Given the description of an element on the screen output the (x, y) to click on. 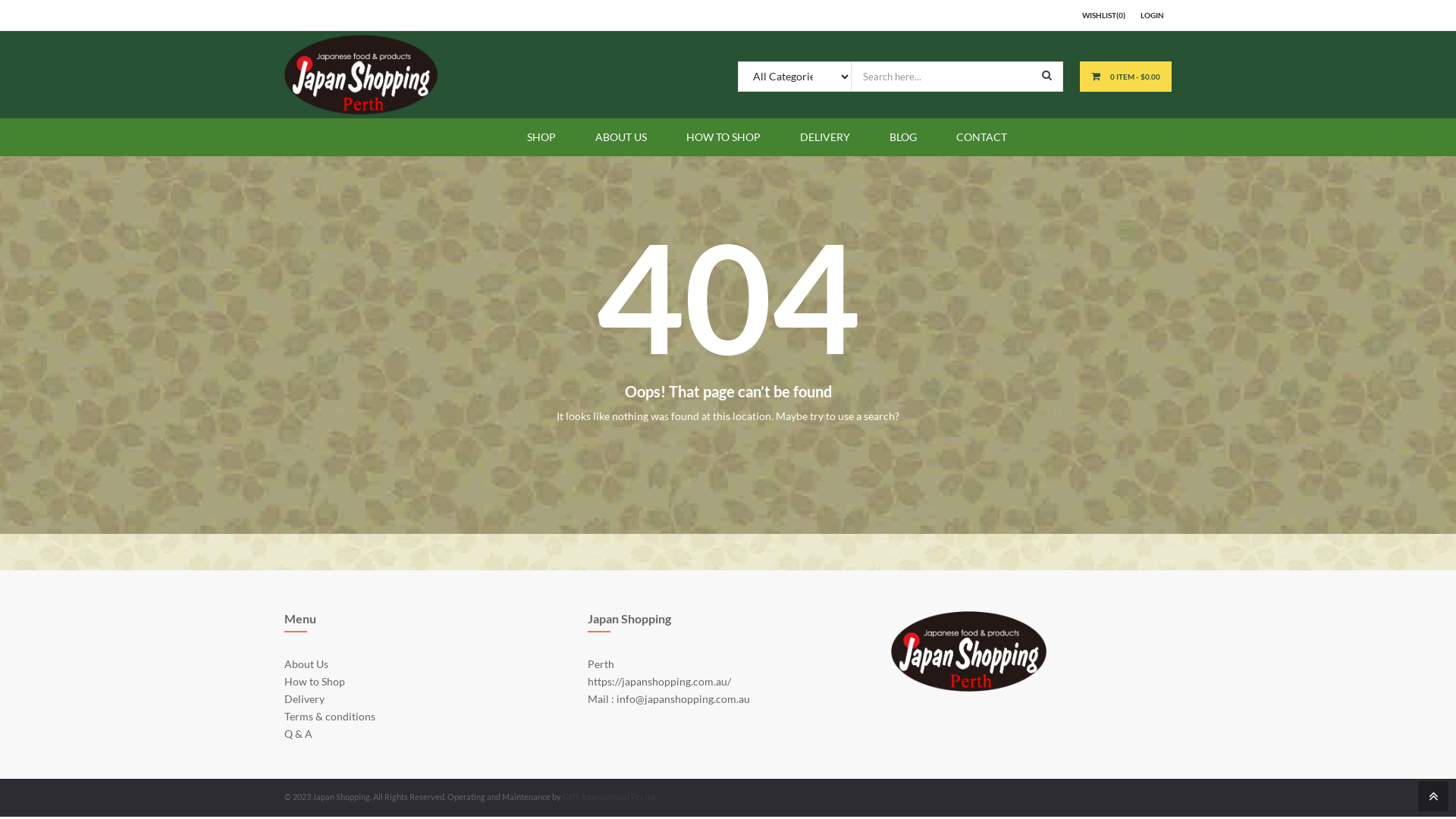
GITS International Pty ltd Element type: text (608, 796)
https://japanshopping.com.au/ Element type: text (659, 680)
ABOUT US Element type: text (620, 137)
View your shopping bag Element type: hover (1096, 75)
DELIVERY Element type: text (825, 137)
Delivery Element type: text (304, 698)
Q & A Element type: text (298, 733)
How to Shop Element type: text (314, 680)
About Us Element type: text (306, 663)
LOGIN Element type: text (1152, 14)
WISHLIST(0) Element type: text (1103, 14)
Back to Top Element type: hover (1431, 794)
Terms & conditions Element type: text (329, 715)
BLOG Element type: text (902, 137)
Default Element type: hover (360, 74)
CONTACT Element type: text (981, 137)
HOW TO SHOP Element type: text (723, 137)
Search Element type: hover (1046, 74)
SHOP Element type: text (541, 137)
